Given the description of an element on the screen output the (x, y) to click on. 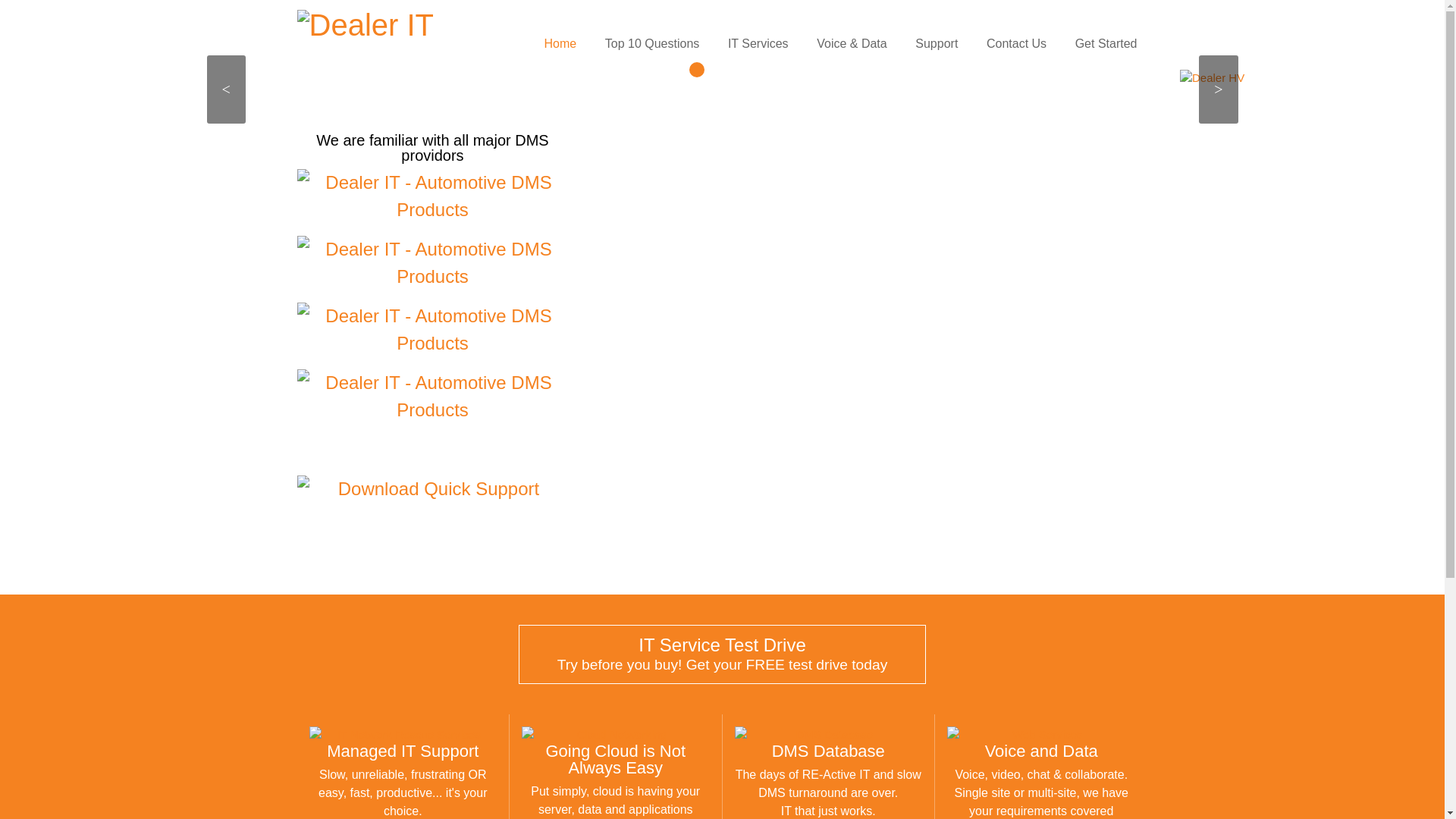
Contact Us Element type: text (1016, 43)
Home Element type: text (559, 43)
Top 10 Questions Element type: text (652, 43)
Voice & Data Element type: text (851, 43)
IT Services Element type: text (758, 43)
Support Element type: text (936, 43)
Get Started Element type: text (1106, 43)
